Given the description of an element on the screen output the (x, y) to click on. 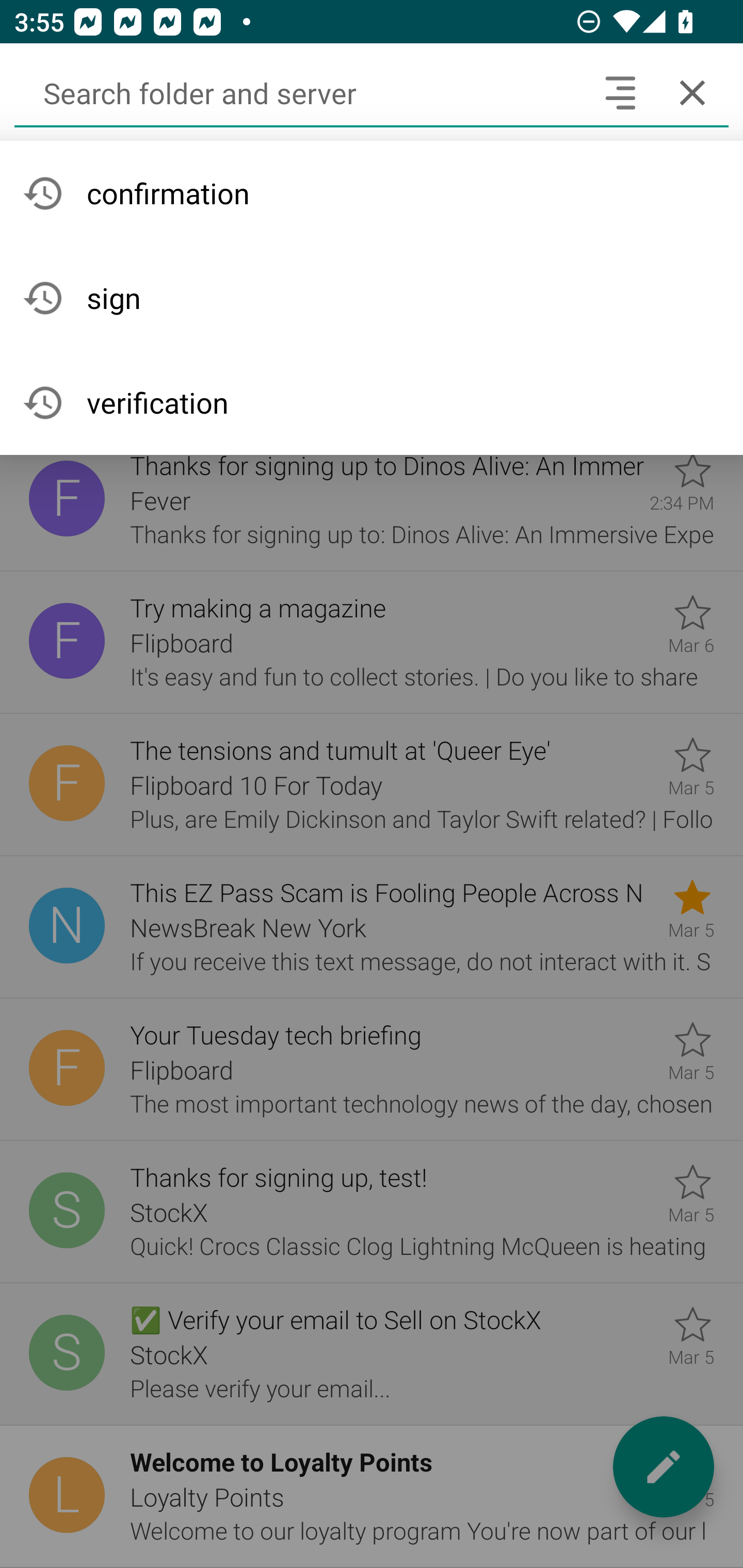
   Search folder and server (298, 92)
Search headers and text (619, 92)
Cancel (692, 92)
